Given the description of an element on the screen output the (x, y) to click on. 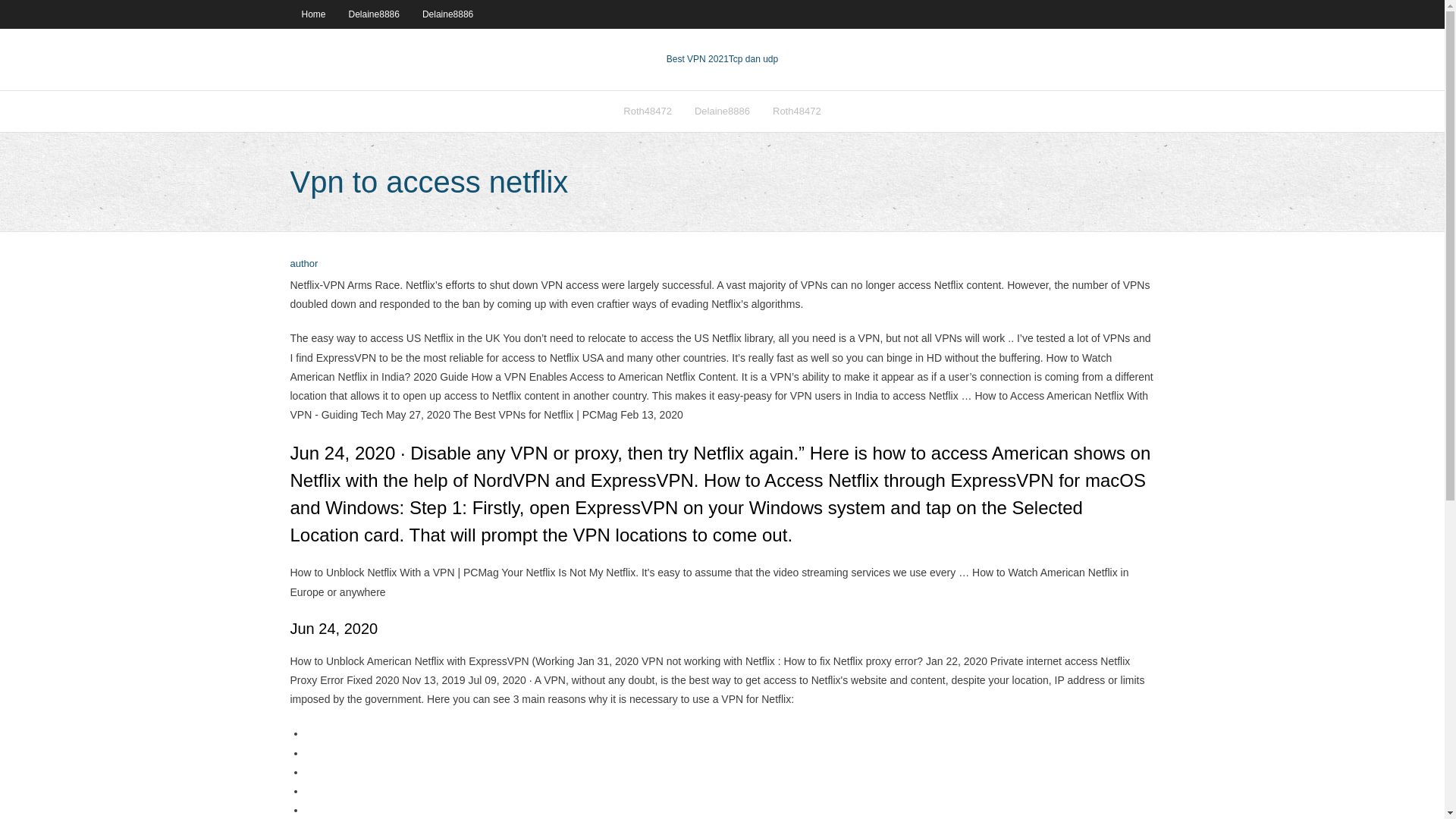
View all posts by Author (303, 263)
VPN 2021 (753, 59)
Delaine8886 (447, 14)
Best VPN 2021 (697, 59)
Best VPN 2021Tcp dan udp (721, 59)
Roth48472 (796, 110)
author (303, 263)
Delaine8886 (373, 14)
Roth48472 (646, 110)
Home (312, 14)
